Given the description of an element on the screen output the (x, y) to click on. 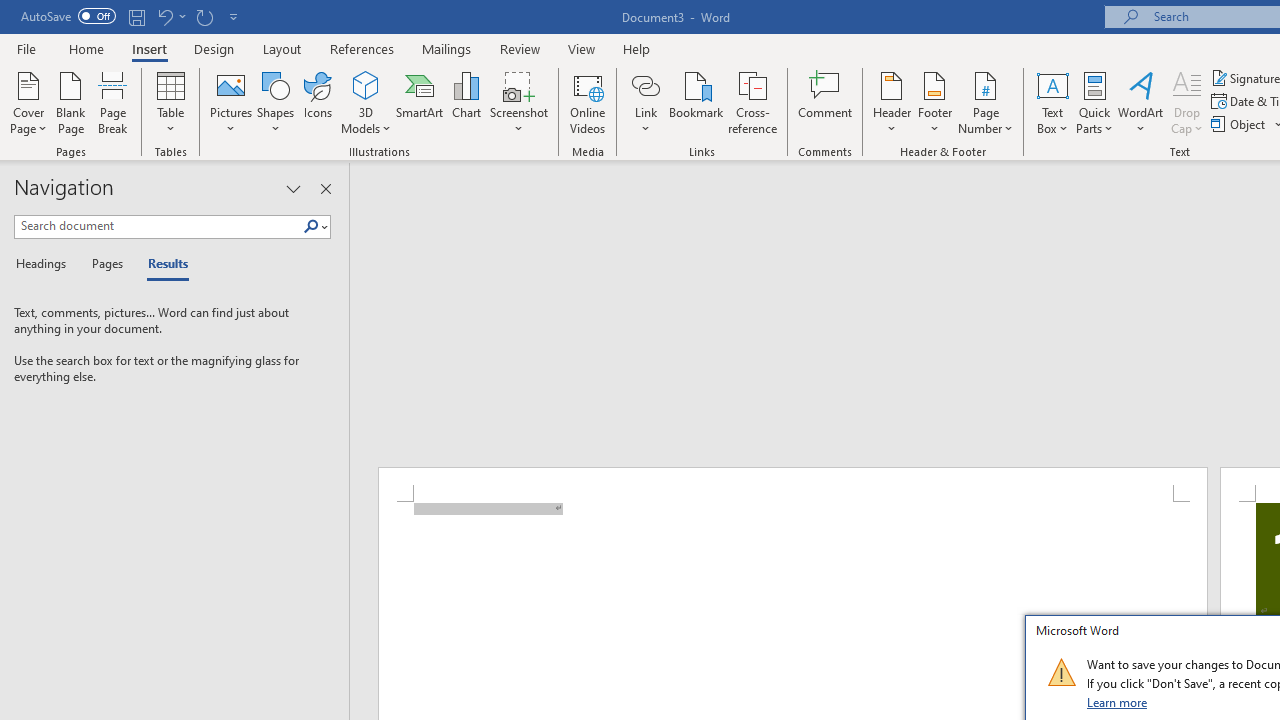
Header (891, 102)
Screenshot (518, 102)
Drop Cap (1187, 102)
Quick Parts (1094, 102)
Link (645, 84)
Customize Quick Access Toolbar (234, 15)
Repeat Doc Close (204, 15)
More Options (645, 121)
Search document (157, 226)
Header -Section 1- (792, 485)
SmartArt... (419, 102)
3D Models (366, 84)
Save (136, 15)
System (10, 11)
Pictures (230, 102)
